Given the description of an element on the screen output the (x, y) to click on. 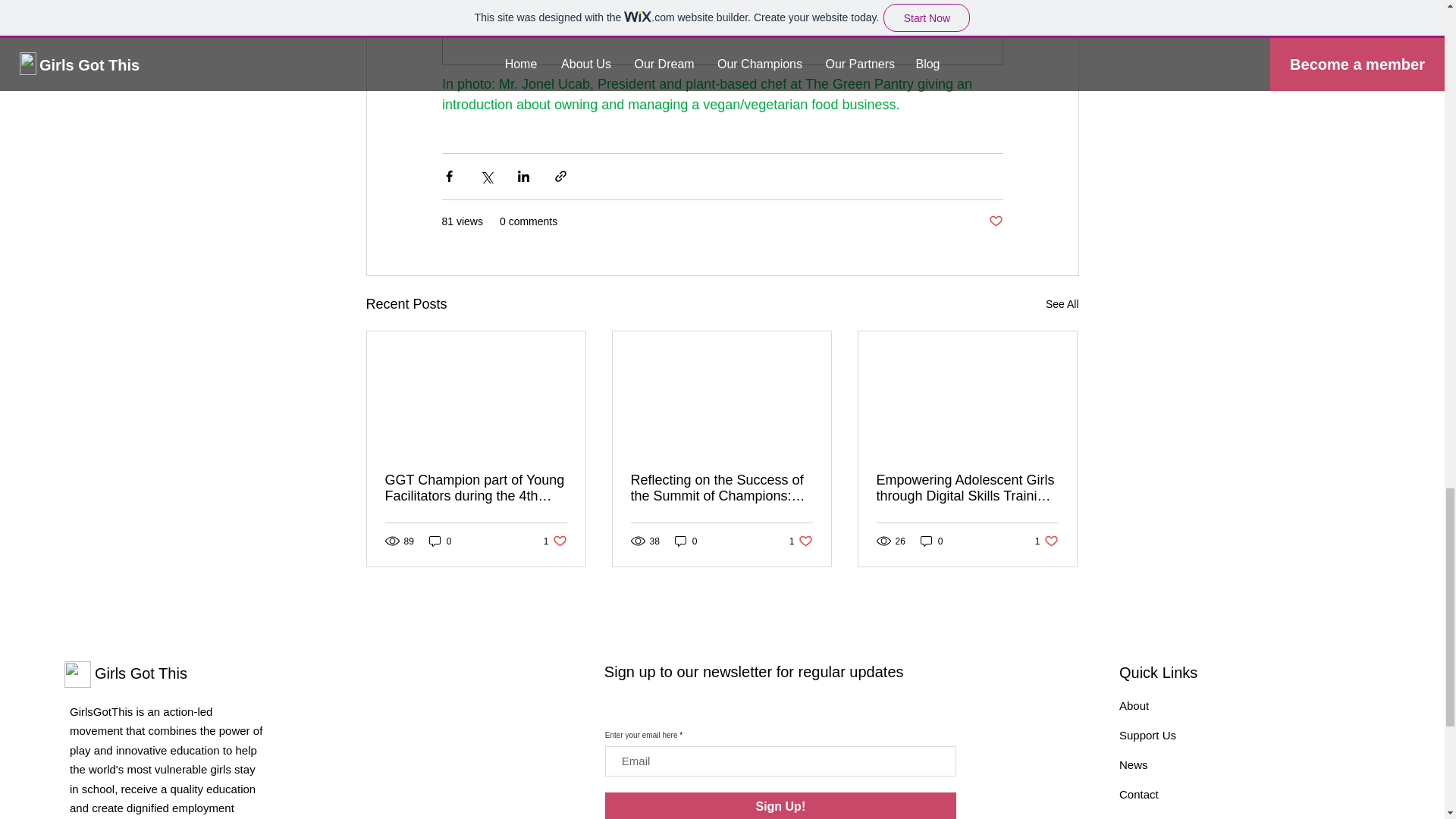
0 (440, 540)
0 (685, 540)
About (1133, 705)
0 (800, 540)
Sign Up! (931, 540)
See All (780, 805)
Post not marked as liked (1046, 540)
